Given the description of an element on the screen output the (x, y) to click on. 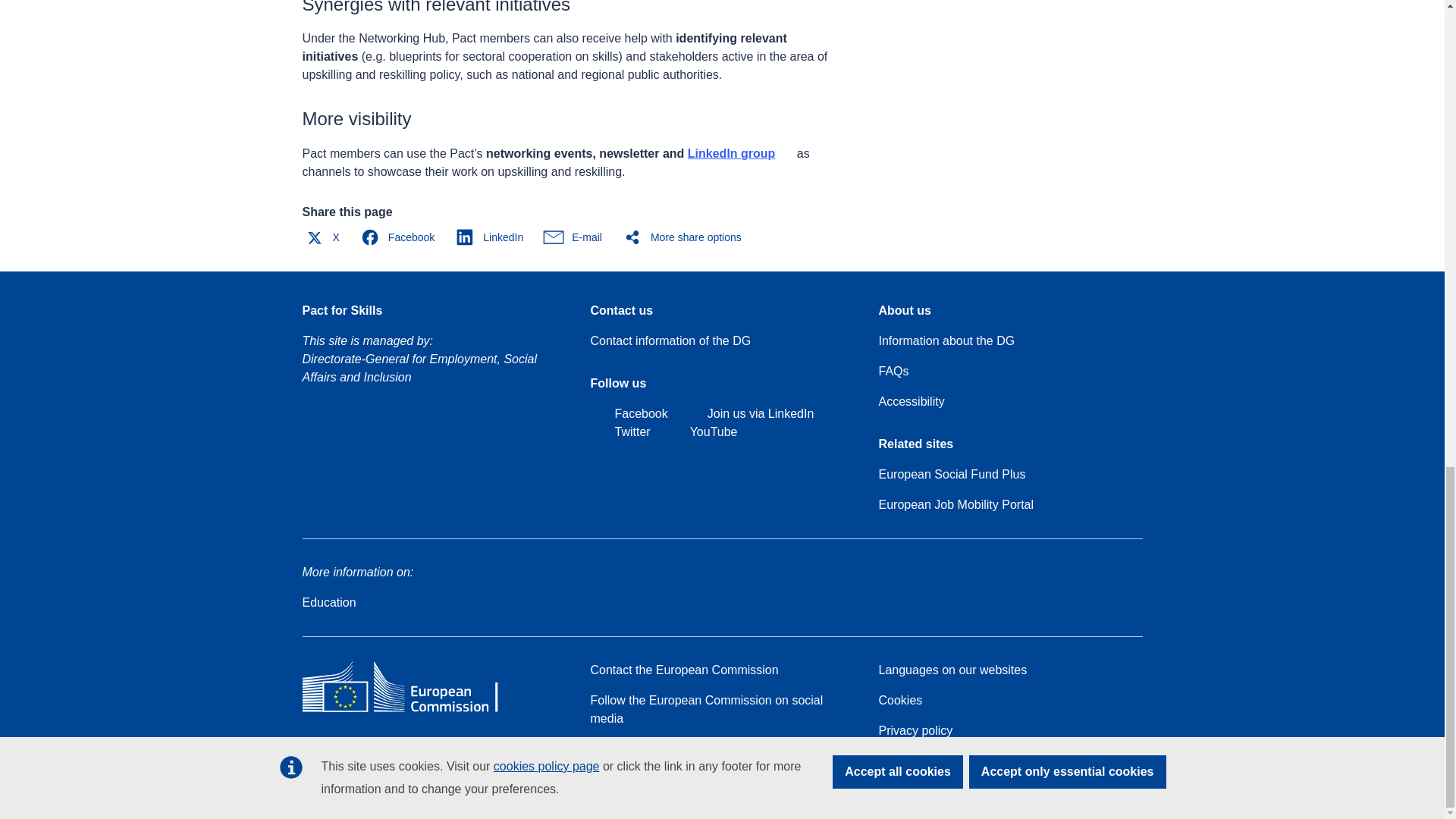
European Commission (411, 711)
